Given the description of an element on the screen output the (x, y) to click on. 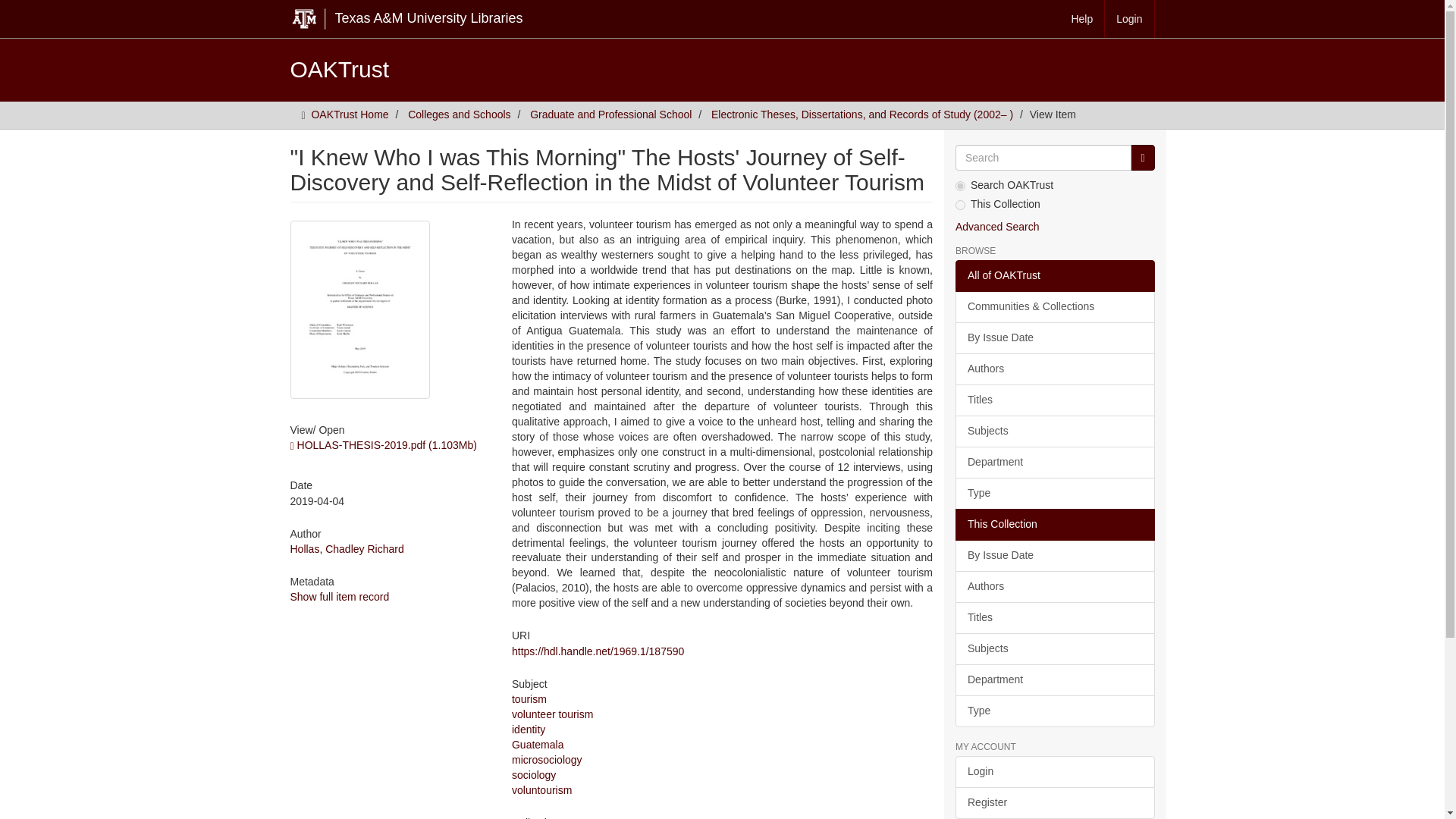
identity (528, 729)
Show full item record (338, 596)
OAKTrust Home (349, 114)
OAKTrust (338, 68)
tourism (529, 698)
Graduate and Professional School (610, 114)
voluntourism (542, 789)
sociology (534, 775)
Guatemala (537, 744)
Colleges and Schools (459, 114)
